Given the description of an element on the screen output the (x, y) to click on. 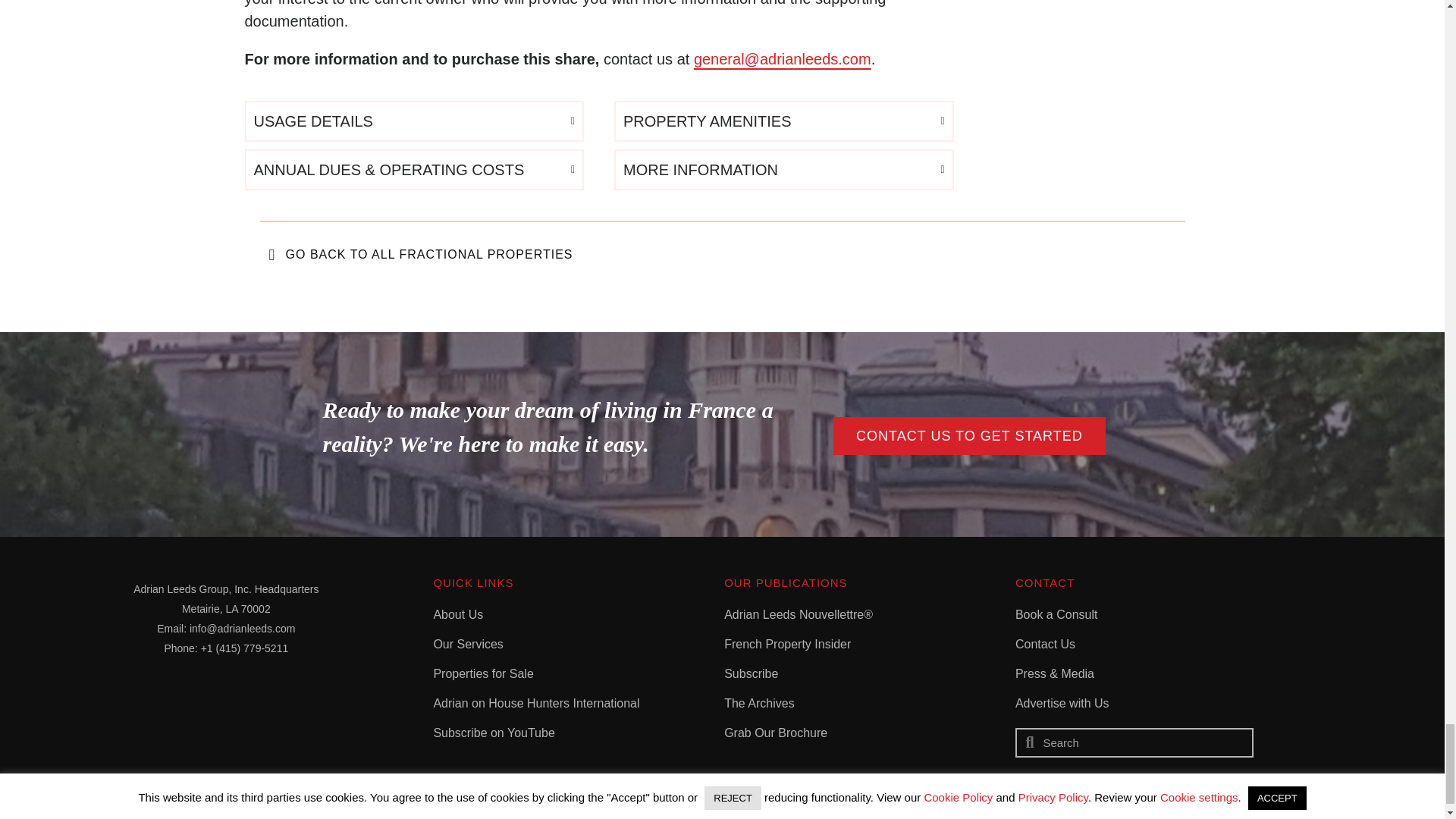
Search (1142, 742)
